Given the description of an element on the screen output the (x, y) to click on. 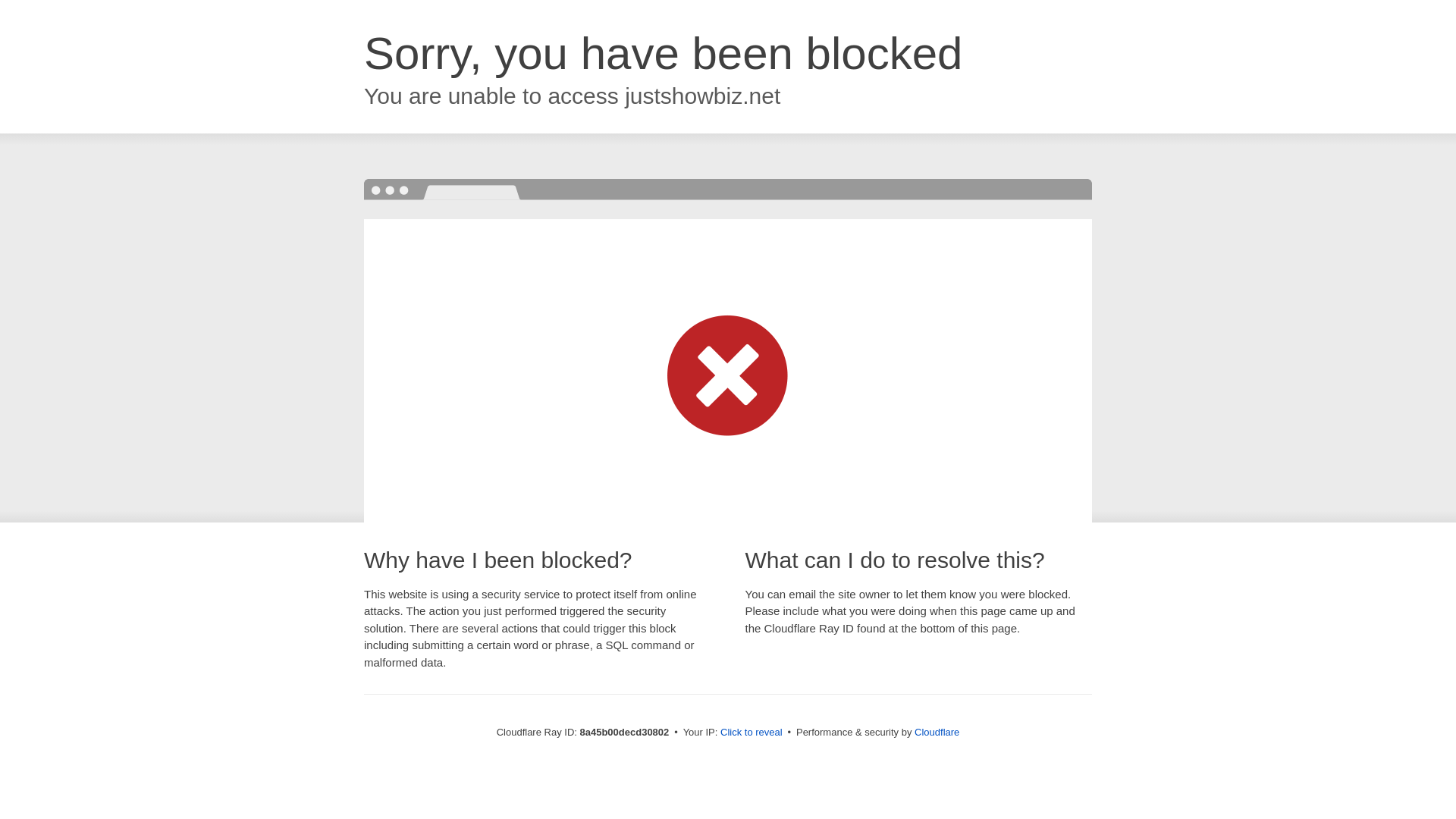
Click to reveal (751, 732)
Cloudflare (936, 731)
